Given the description of an element on the screen output the (x, y) to click on. 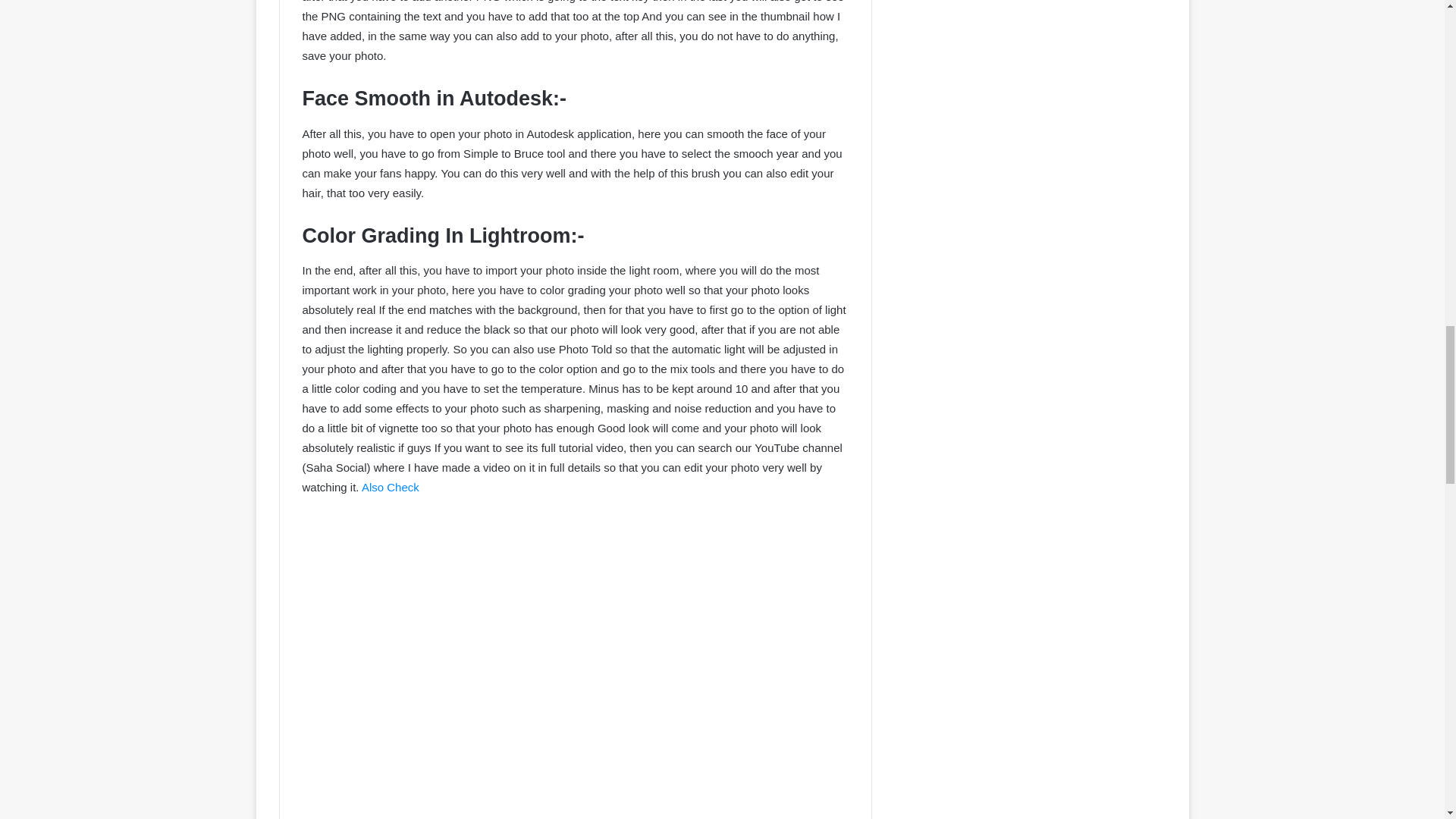
Also Check (390, 486)
